Given the description of an element on the screen output the (x, y) to click on. 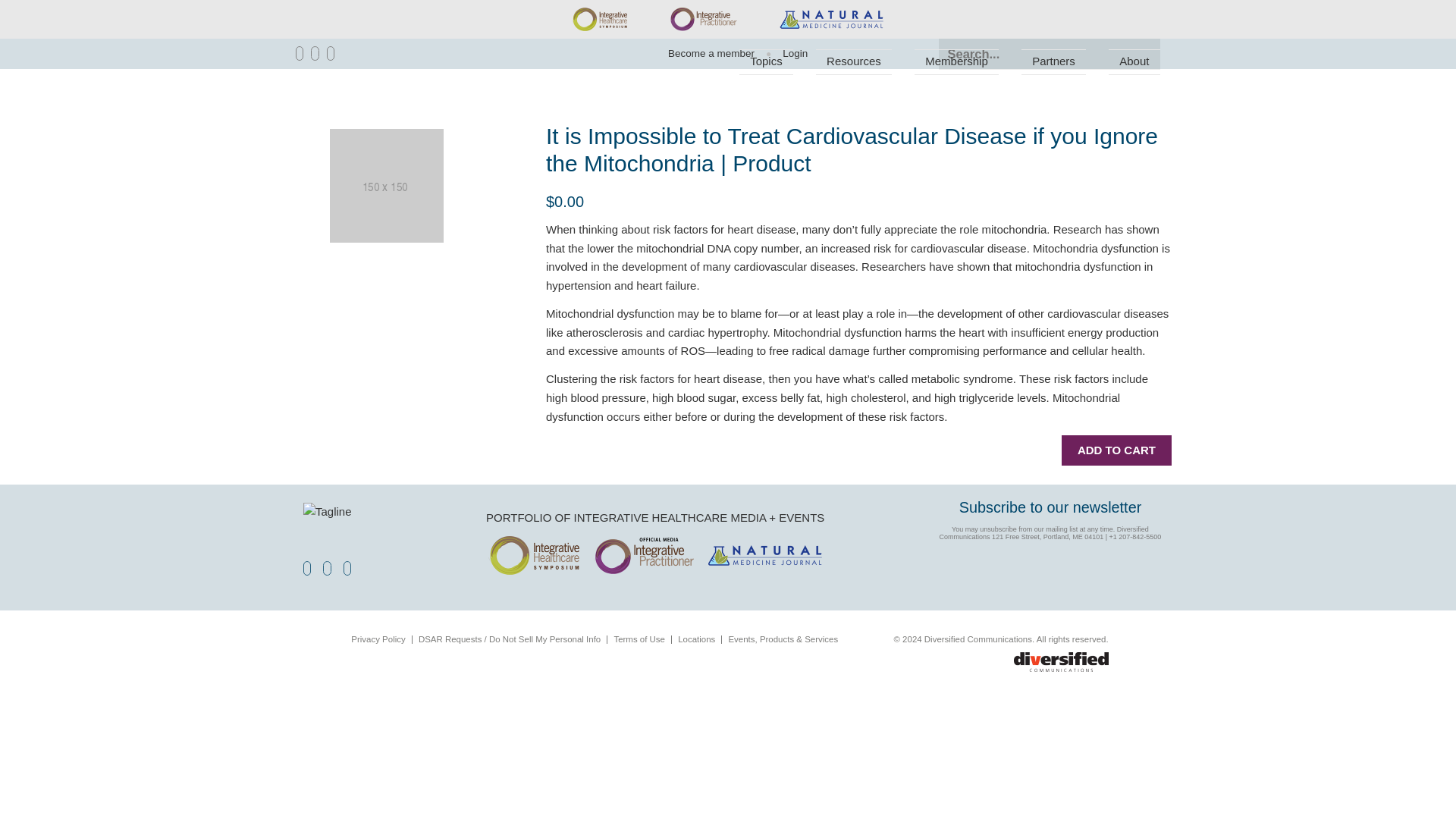
Membership (956, 62)
About (1134, 62)
Topics (766, 62)
Partners (1054, 62)
Resources (853, 62)
Login (789, 52)
Become a member (710, 52)
